Given the description of an element on the screen output the (x, y) to click on. 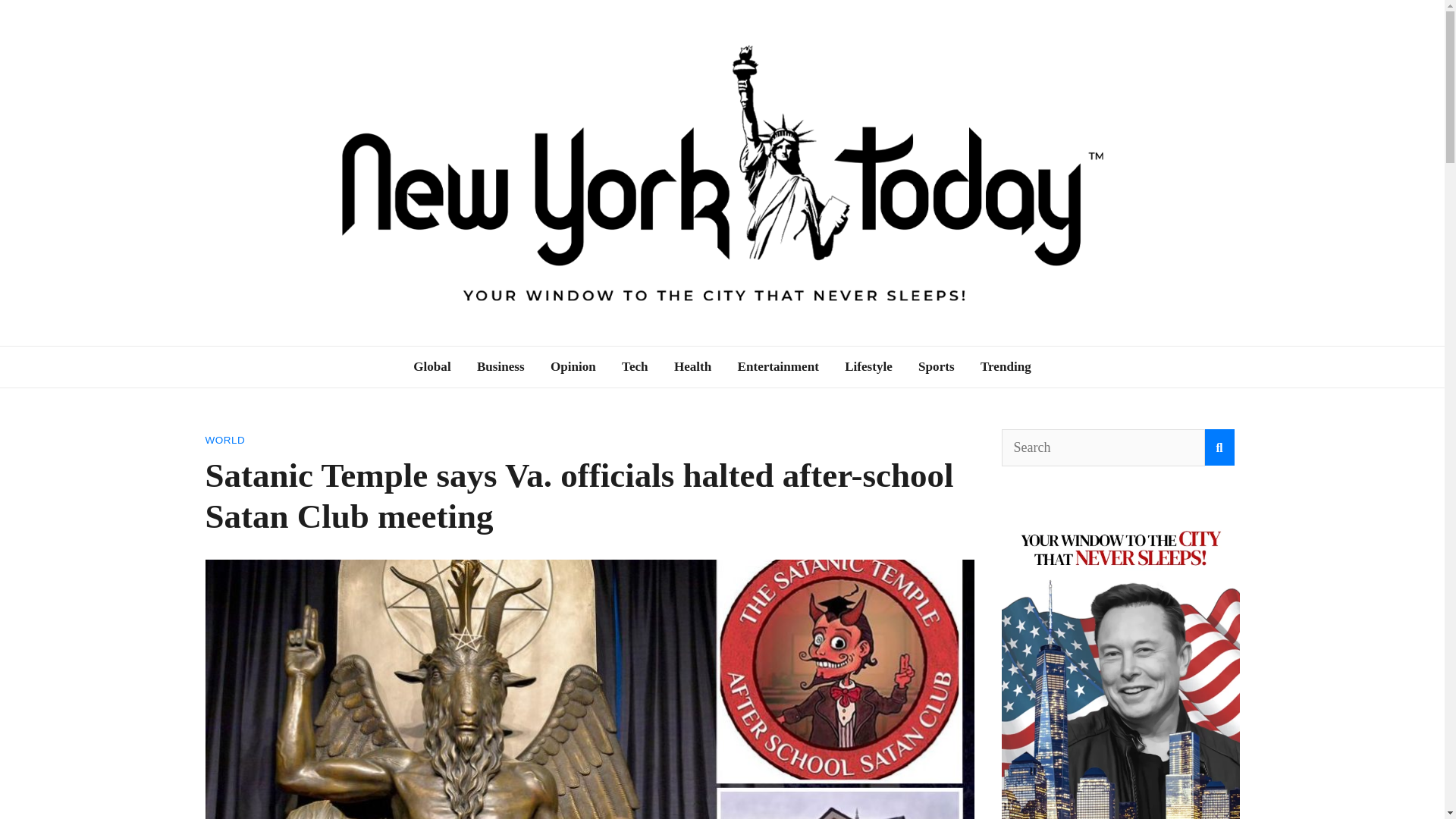
Business (500, 366)
Health (692, 366)
Global (431, 366)
New York Today (348, 355)
Entertainment (777, 366)
Opinion (572, 366)
Sports (936, 366)
WORLD (224, 440)
Tech (634, 366)
Lifestyle (868, 366)
Trending (1005, 366)
